Given the description of an element on the screen output the (x, y) to click on. 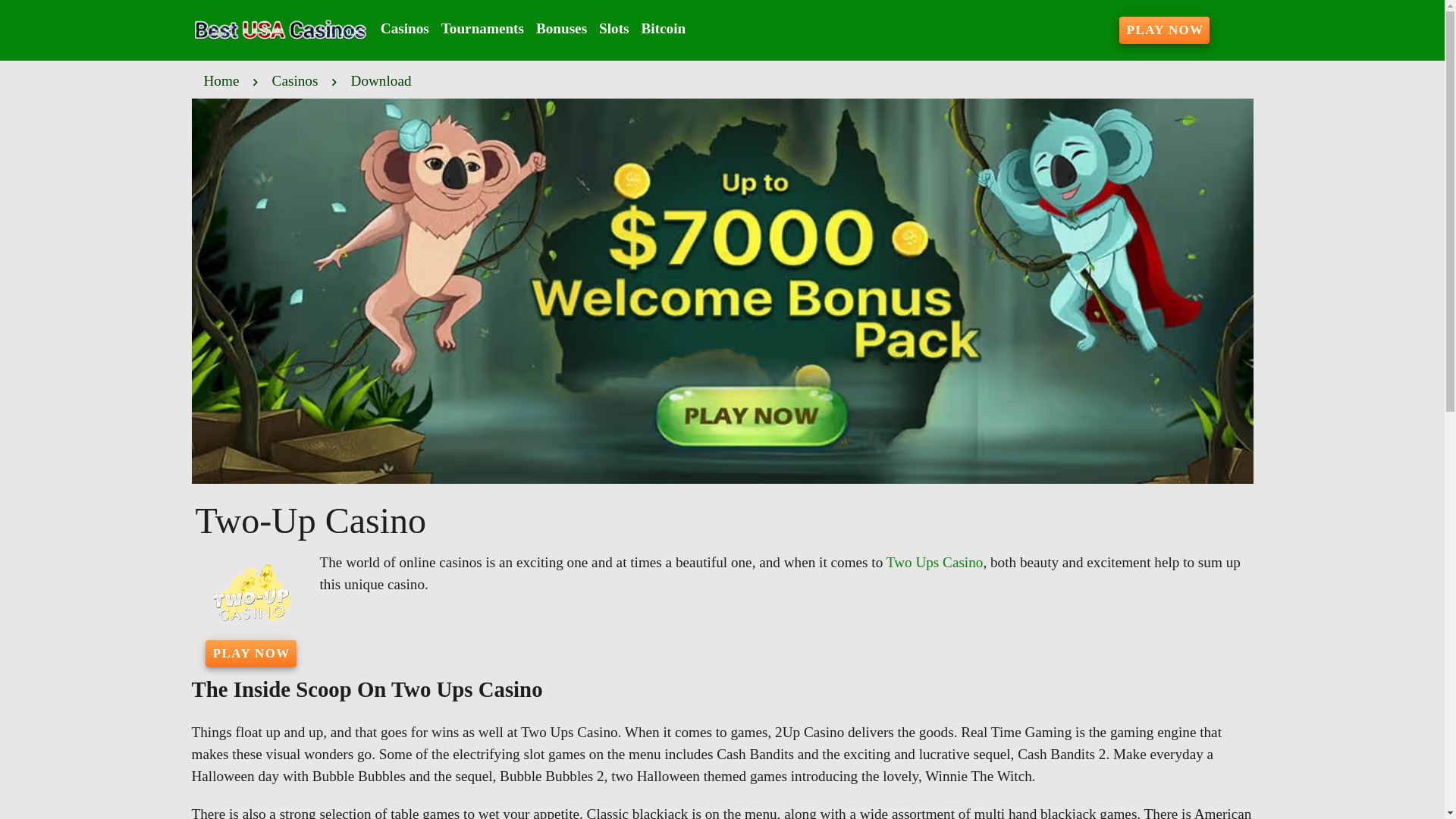
Bitcoin (663, 28)
Home (220, 80)
PLAY NOW (250, 653)
Two Ups Casino (935, 562)
Casinos (404, 28)
Casinos (295, 80)
Tournaments (482, 28)
Bonuses (560, 28)
Download (381, 80)
PLAY NOW (1164, 30)
Slots (613, 28)
